Given the description of an element on the screen output the (x, y) to click on. 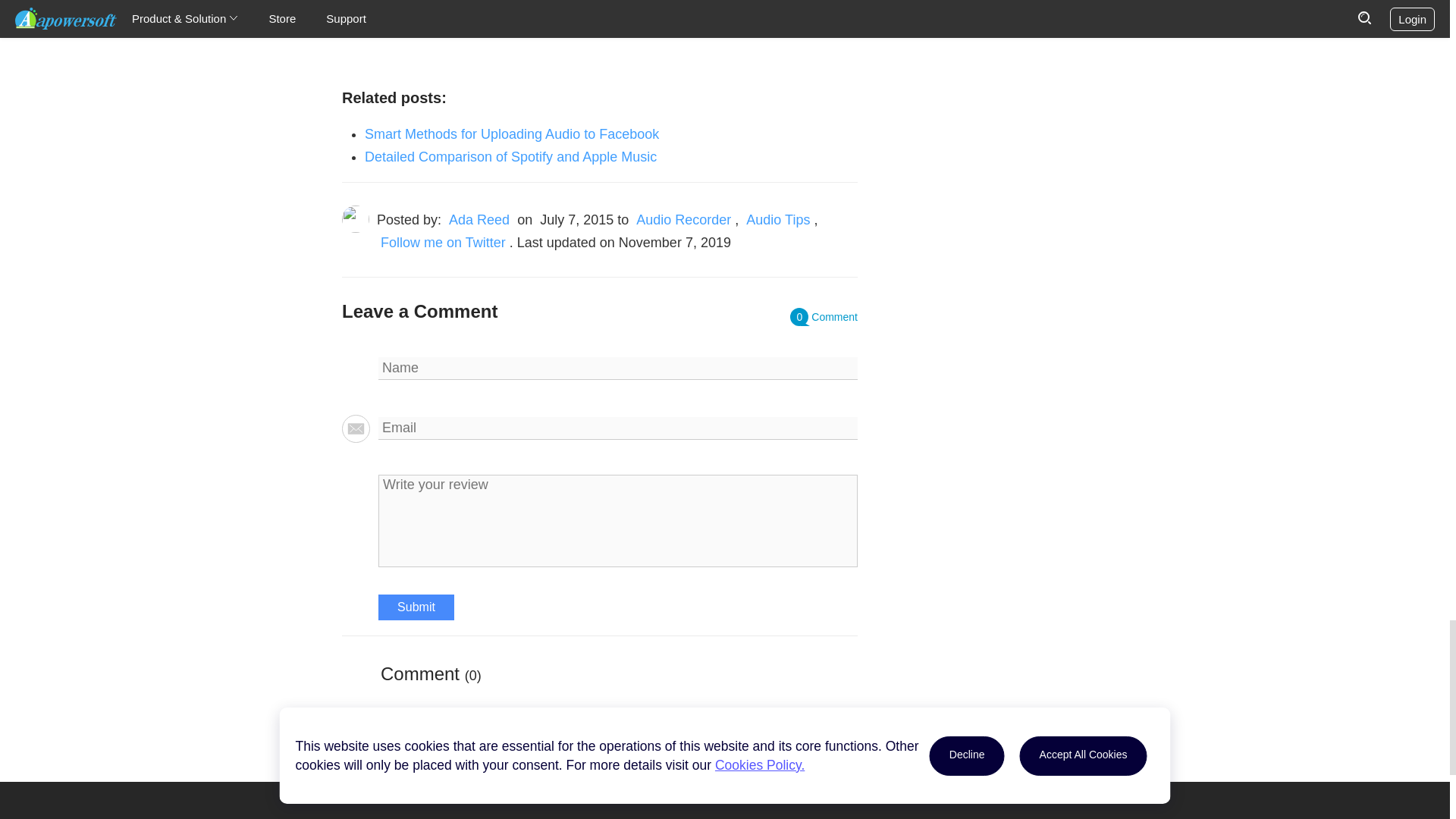
Smart Methods for Uploading Audio to Facebook (512, 133)
Detailed Comparison of Spotify and Apple Music (510, 155)
